Given the description of an element on the screen output the (x, y) to click on. 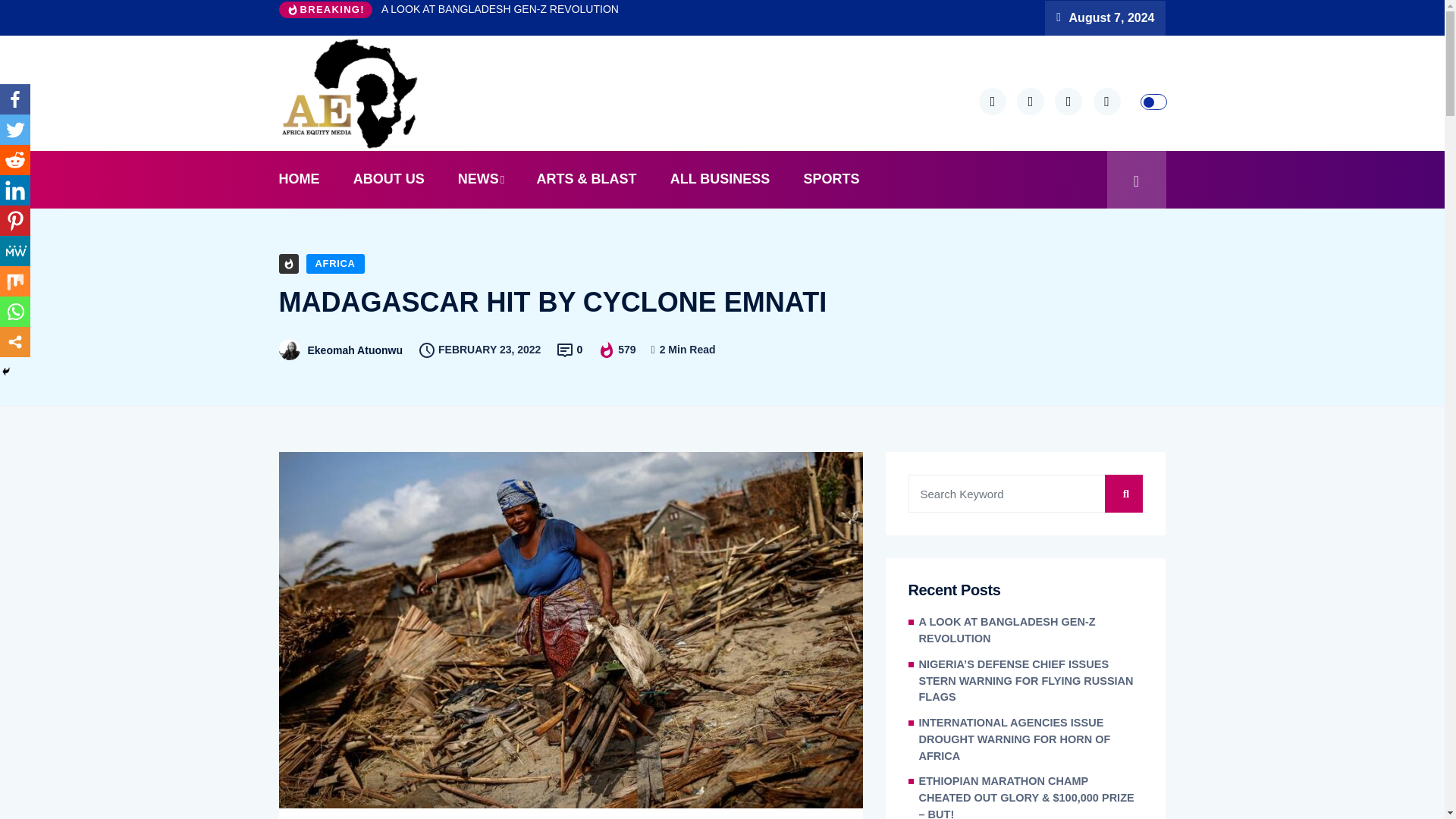
More (15, 341)
ALL BUSINESS (720, 179)
AFRICA (335, 263)
Facebook (15, 99)
HOME (306, 179)
Reddit (15, 159)
Whatsapp (15, 311)
ABOUT US (388, 179)
Mix (15, 281)
SPORTS (832, 179)
Twitter (15, 129)
MeWe (15, 250)
NEWS (480, 179)
Ekeomah Atuonwu (355, 349)
Pinterest (15, 220)
